Given the description of an element on the screen output the (x, y) to click on. 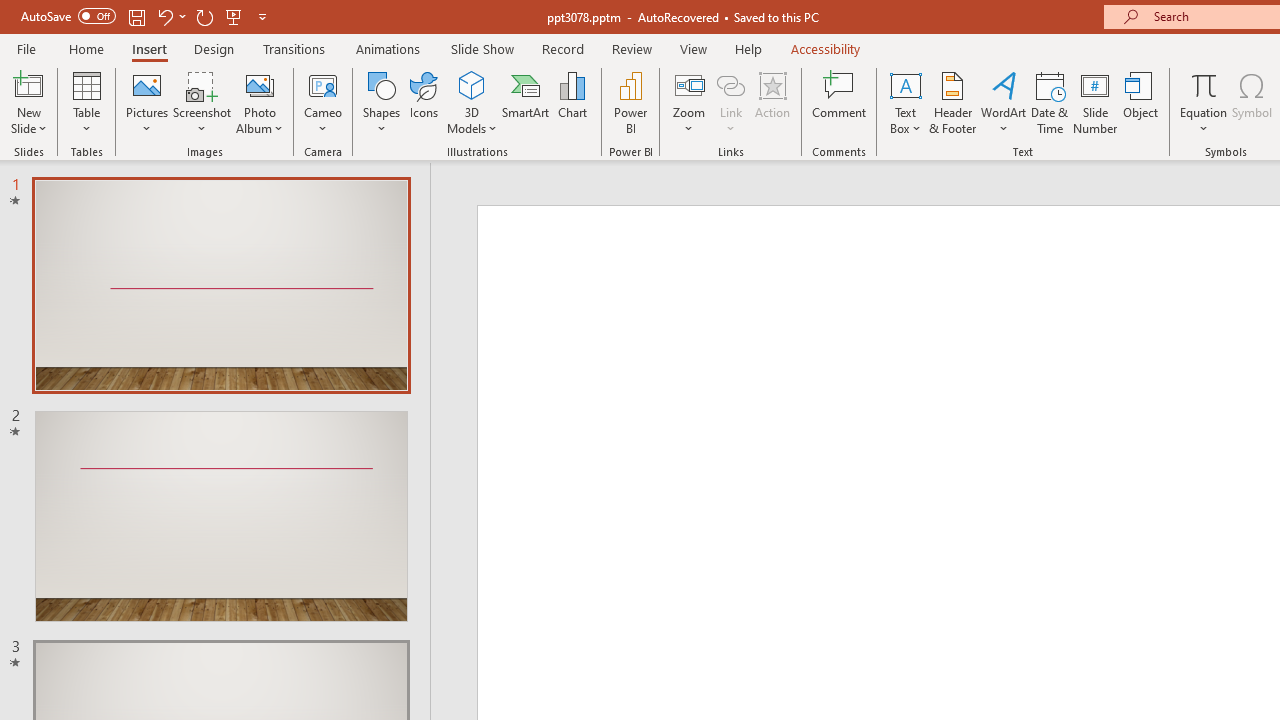
Slide Number (1095, 102)
Icons (424, 102)
Object... (1141, 102)
New Photo Album... (259, 84)
Date & Time... (1050, 102)
Header & Footer... (952, 102)
WordArt (1004, 102)
